Given the description of an element on the screen output the (x, y) to click on. 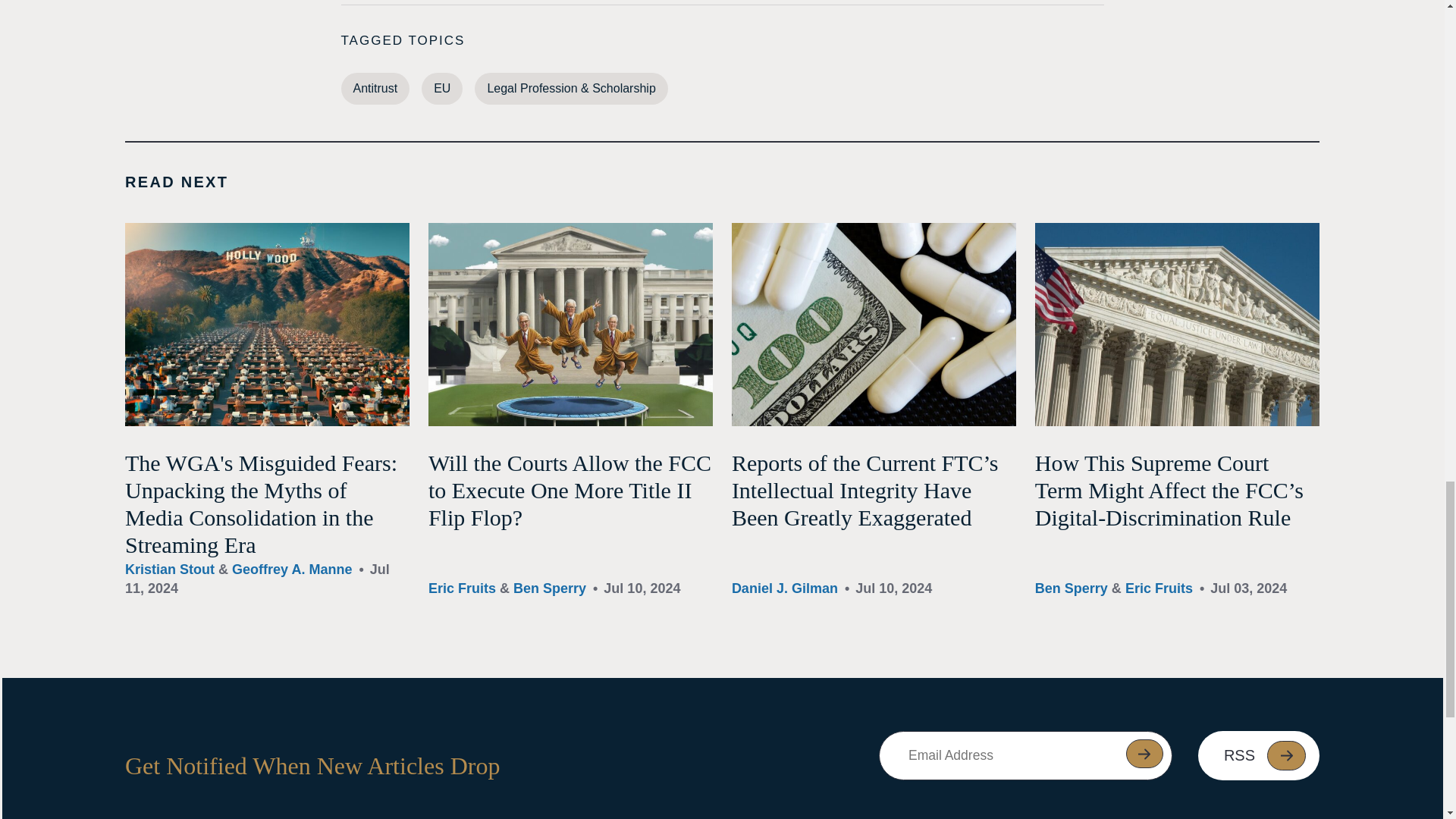
Sign me up! (1144, 753)
Ben Sperry (549, 588)
Kristian Stout (169, 569)
EU (442, 88)
Antitrust (375, 88)
Eric Fruits (462, 588)
Ben Sperry (1071, 588)
Eric Fruits (1158, 588)
RSS (1258, 755)
Geoffrey A. Manne (291, 569)
Daniel J. Gilman (785, 588)
